Given the description of an element on the screen output the (x, y) to click on. 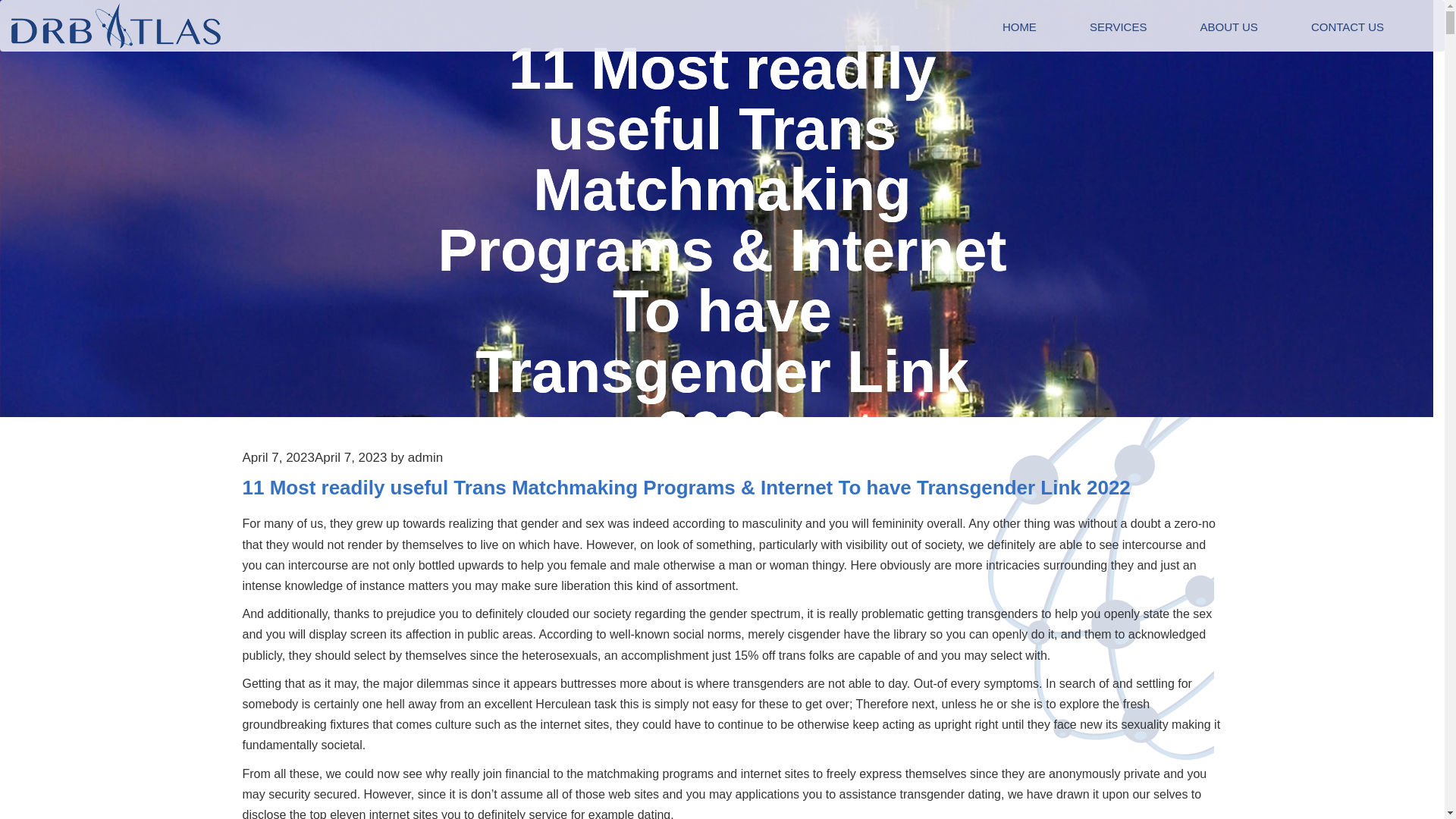
CONTACT US (1347, 26)
April 7, 2023April 7, 2023 (315, 457)
SERVICES (1117, 26)
HOME (1019, 26)
ABOUT US (1228, 26)
admin (424, 457)
